Given the description of an element on the screen output the (x, y) to click on. 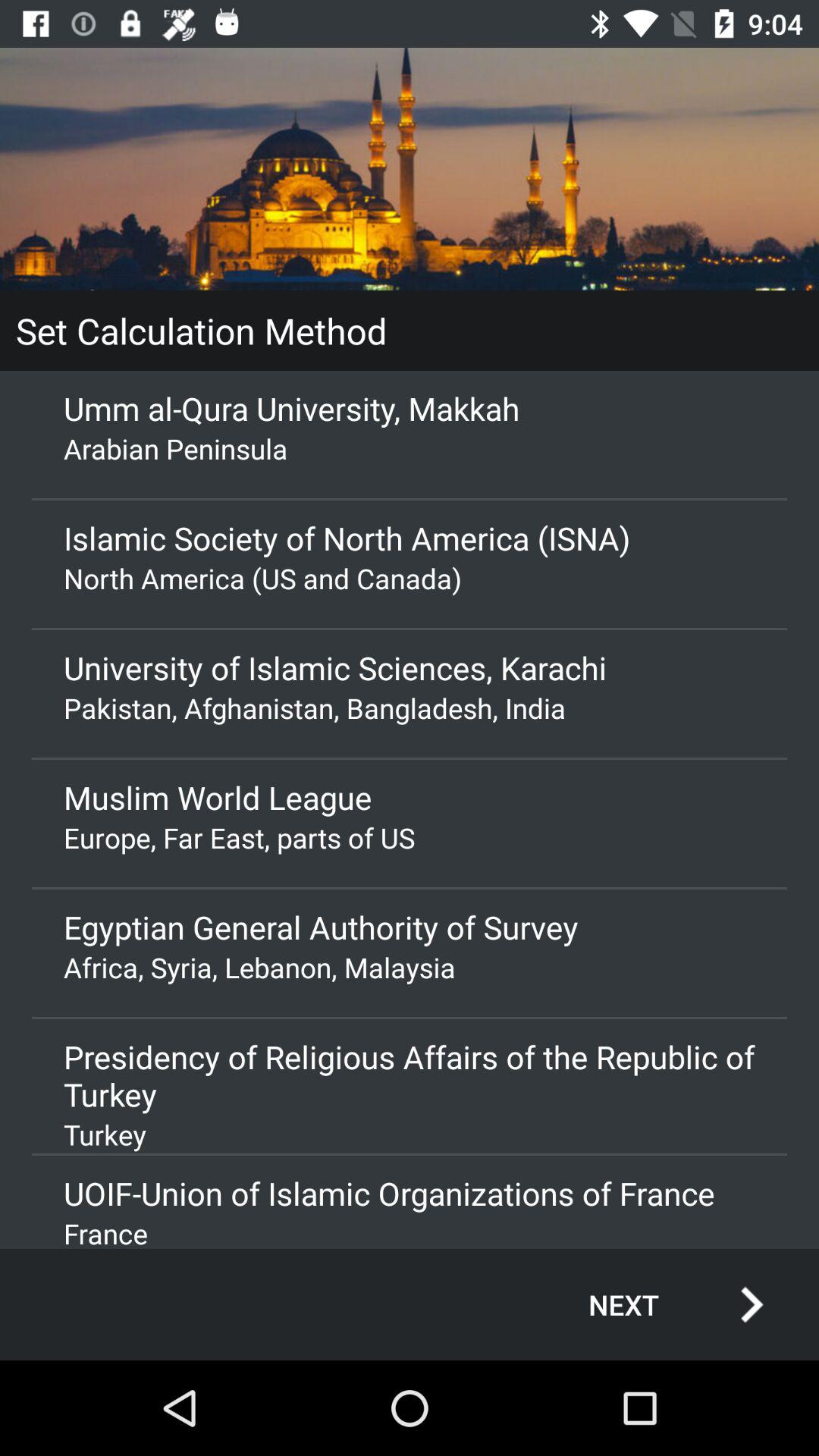
launch uoif union of item (409, 1192)
